Given the description of an element on the screen output the (x, y) to click on. 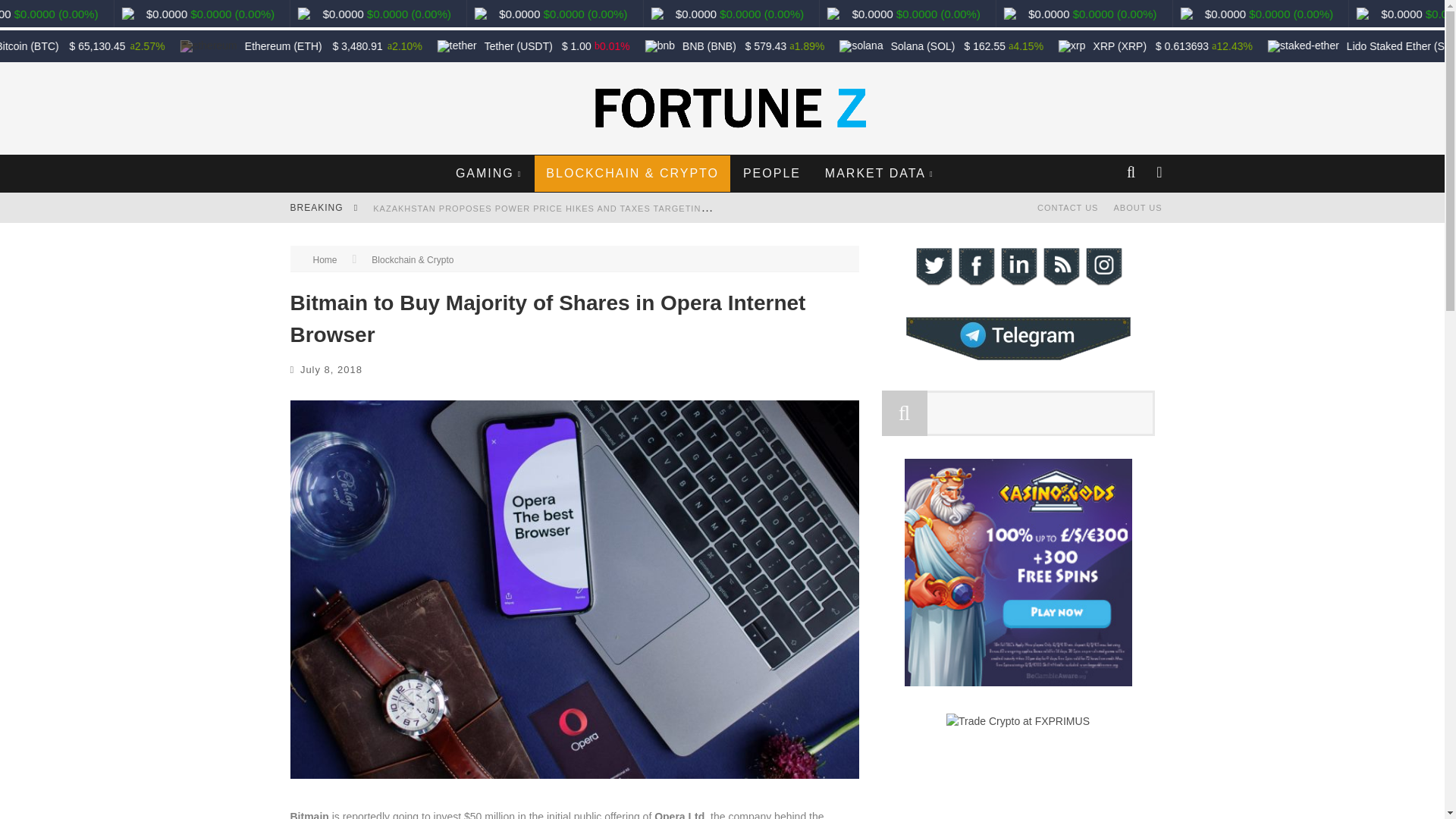
Visit Us On Instagram (1102, 283)
GAMING (489, 173)
Visit Us On Twitter (932, 283)
Visit Us On Facebook (974, 283)
Check Our Feed (1060, 283)
PEOPLE (772, 173)
Visit Us On Linkedin (1017, 283)
Log In (721, 463)
